Given the description of an element on the screen output the (x, y) to click on. 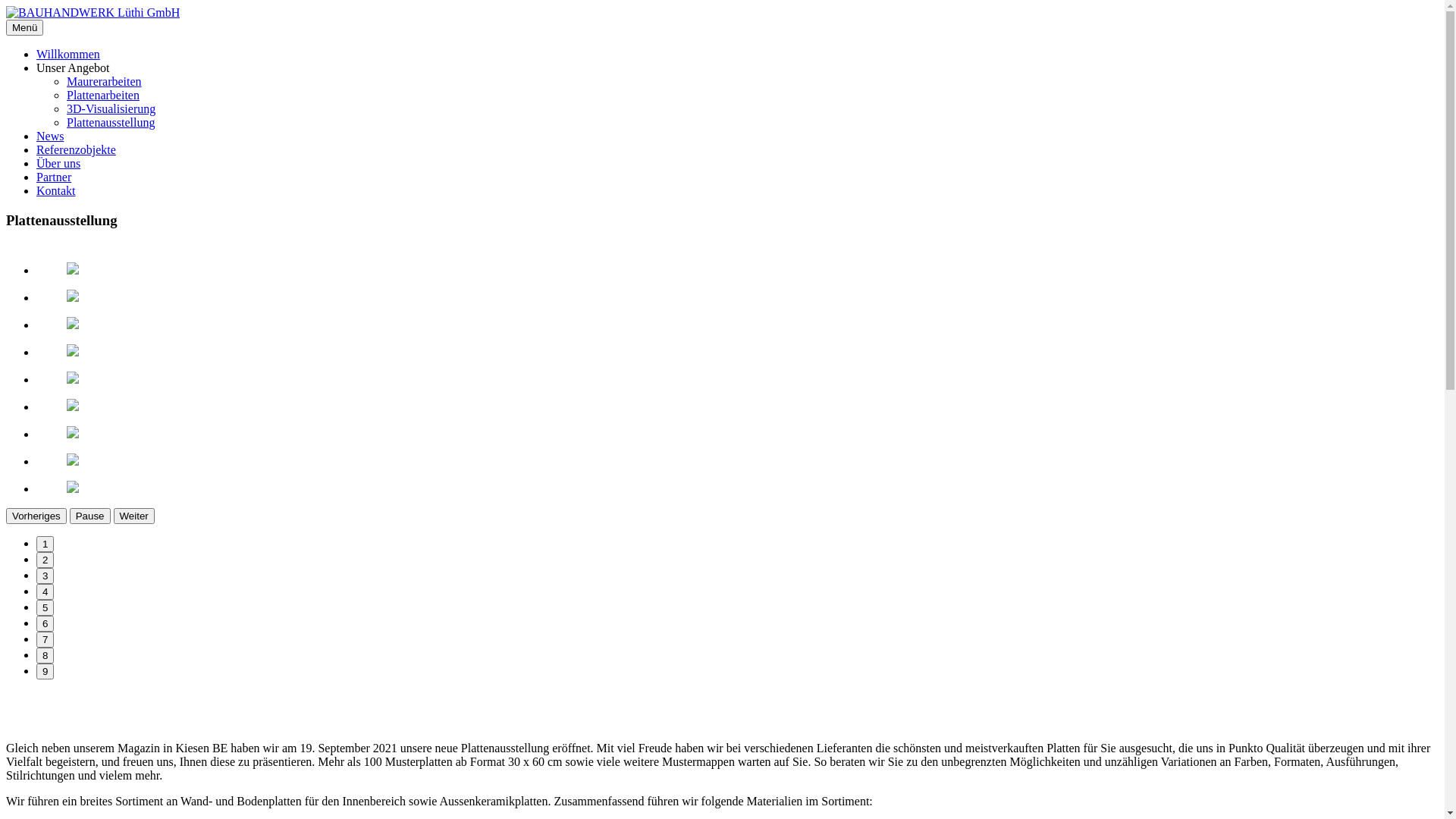
9 Element type: text (44, 671)
Willkommen Element type: text (68, 53)
Maurerarbeiten Element type: text (103, 81)
5 Element type: text (44, 607)
4 Element type: text (44, 591)
1 Element type: text (44, 544)
Weiter Element type: text (133, 516)
8 Element type: text (44, 655)
Partner Element type: text (53, 176)
Plattenausstellung Element type: text (110, 122)
2 Element type: text (44, 559)
Vorheriges Element type: text (36, 516)
Pause Element type: text (89, 516)
7 Element type: text (44, 639)
News Element type: text (49, 135)
Kontakt Element type: text (55, 190)
3 Element type: text (44, 575)
3D-Visualisierung Element type: text (110, 108)
Plattenarbeiten Element type: text (102, 94)
Referenzobjekte Element type: text (76, 149)
6 Element type: text (44, 623)
